Given the description of an element on the screen output the (x, y) to click on. 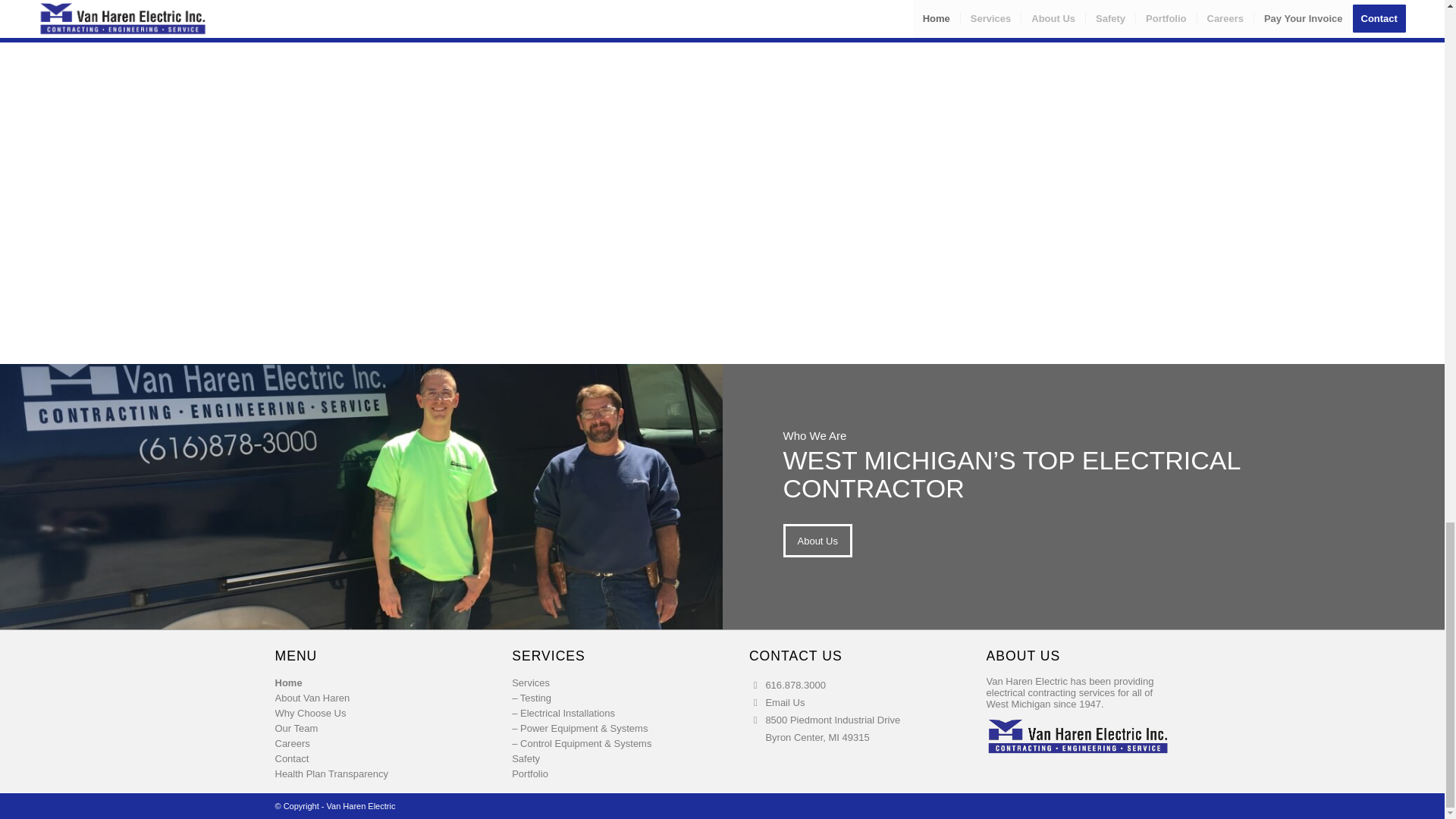
Home (366, 683)
Visit Us (832, 728)
Why Choose Us (366, 713)
Call Us (795, 685)
About Us (817, 540)
Email Us (785, 702)
View Our Services (812, 2)
About Van Haren (366, 698)
